Given the description of an element on the screen output the (x, y) to click on. 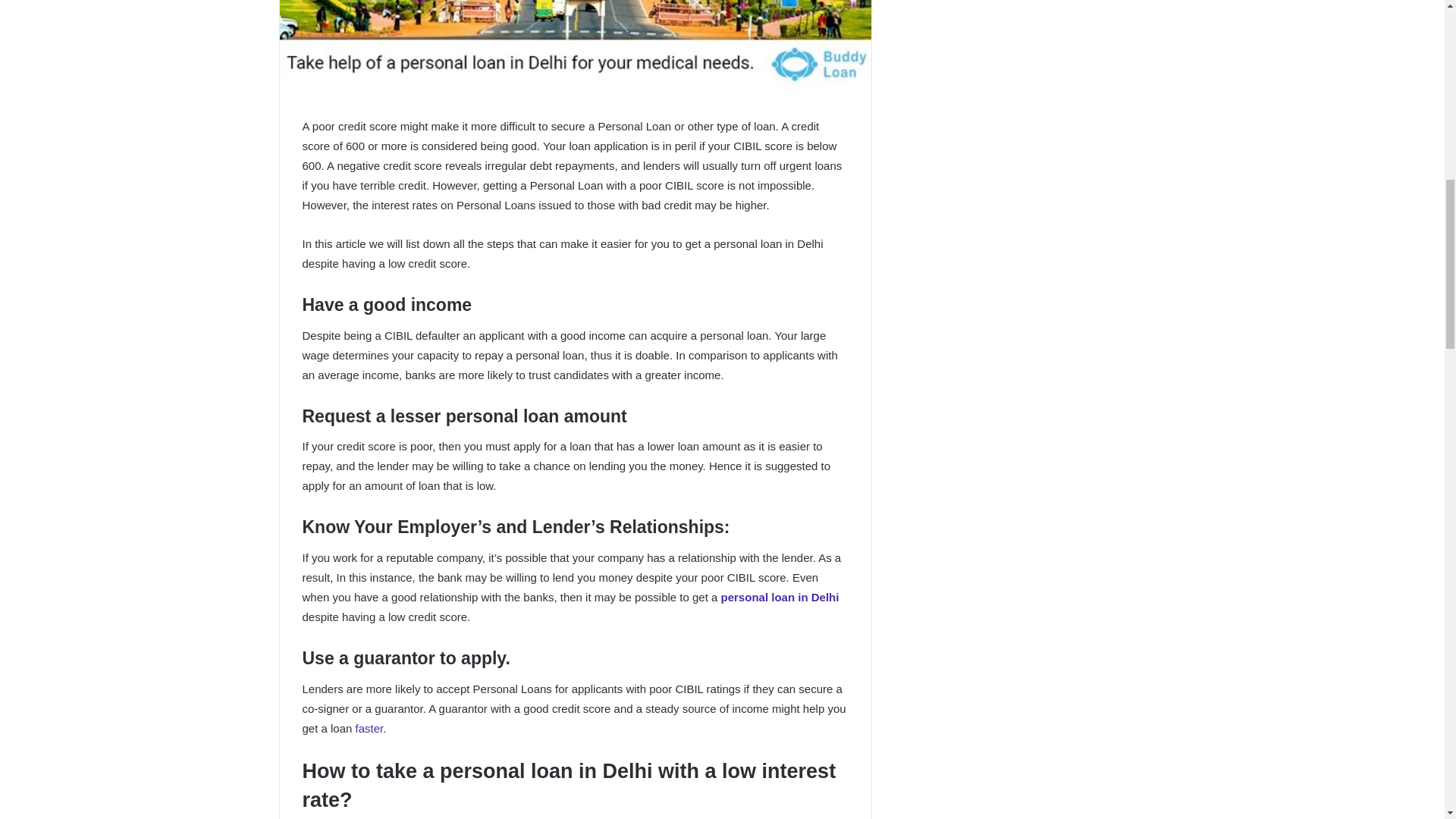
personal loan in Delhi (780, 596)
